Given the description of an element on the screen output the (x, y) to click on. 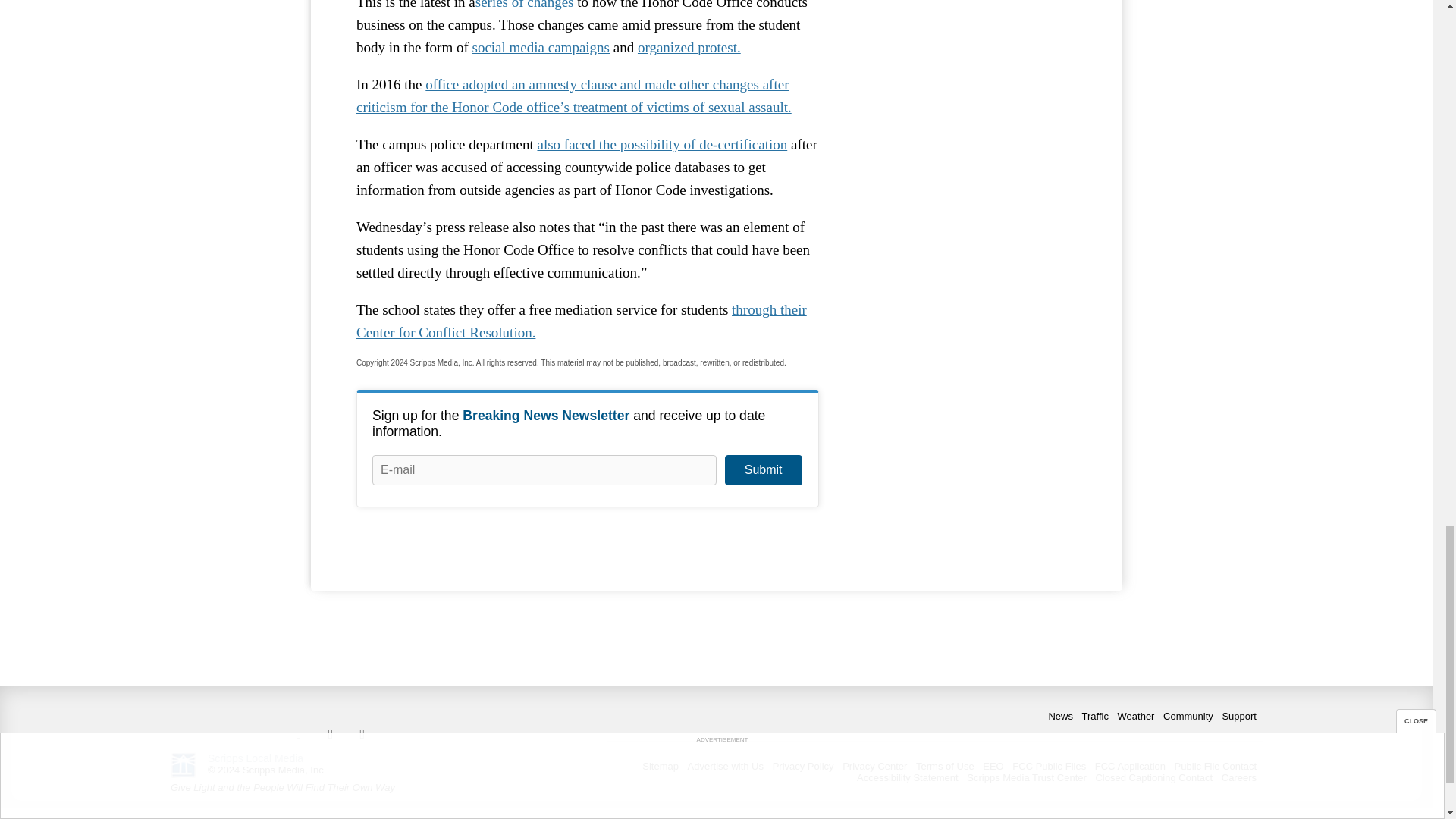
Submit (763, 470)
